Given the description of an element on the screen output the (x, y) to click on. 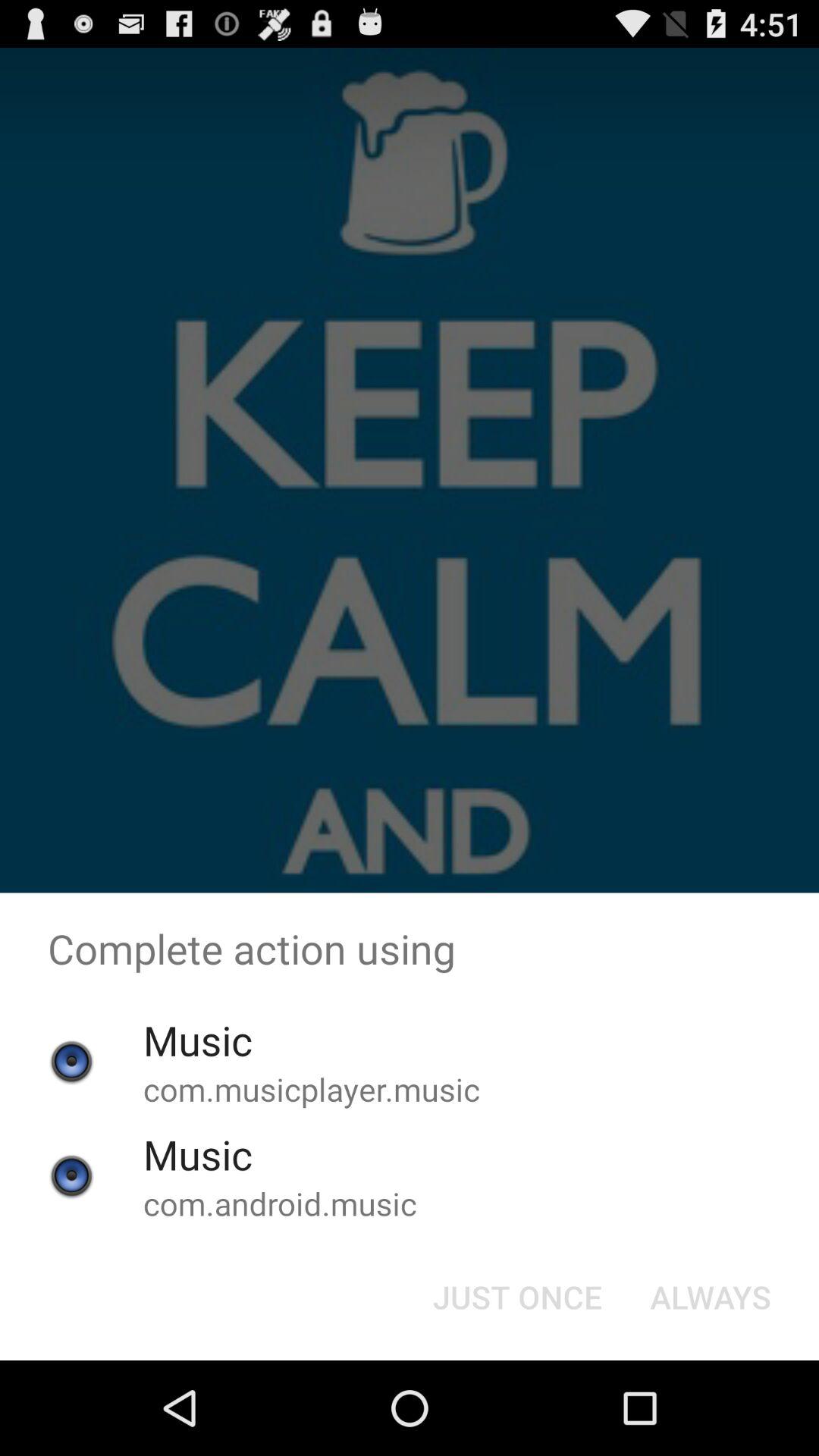
click the button next to the just once (710, 1296)
